Given the description of an element on the screen output the (x, y) to click on. 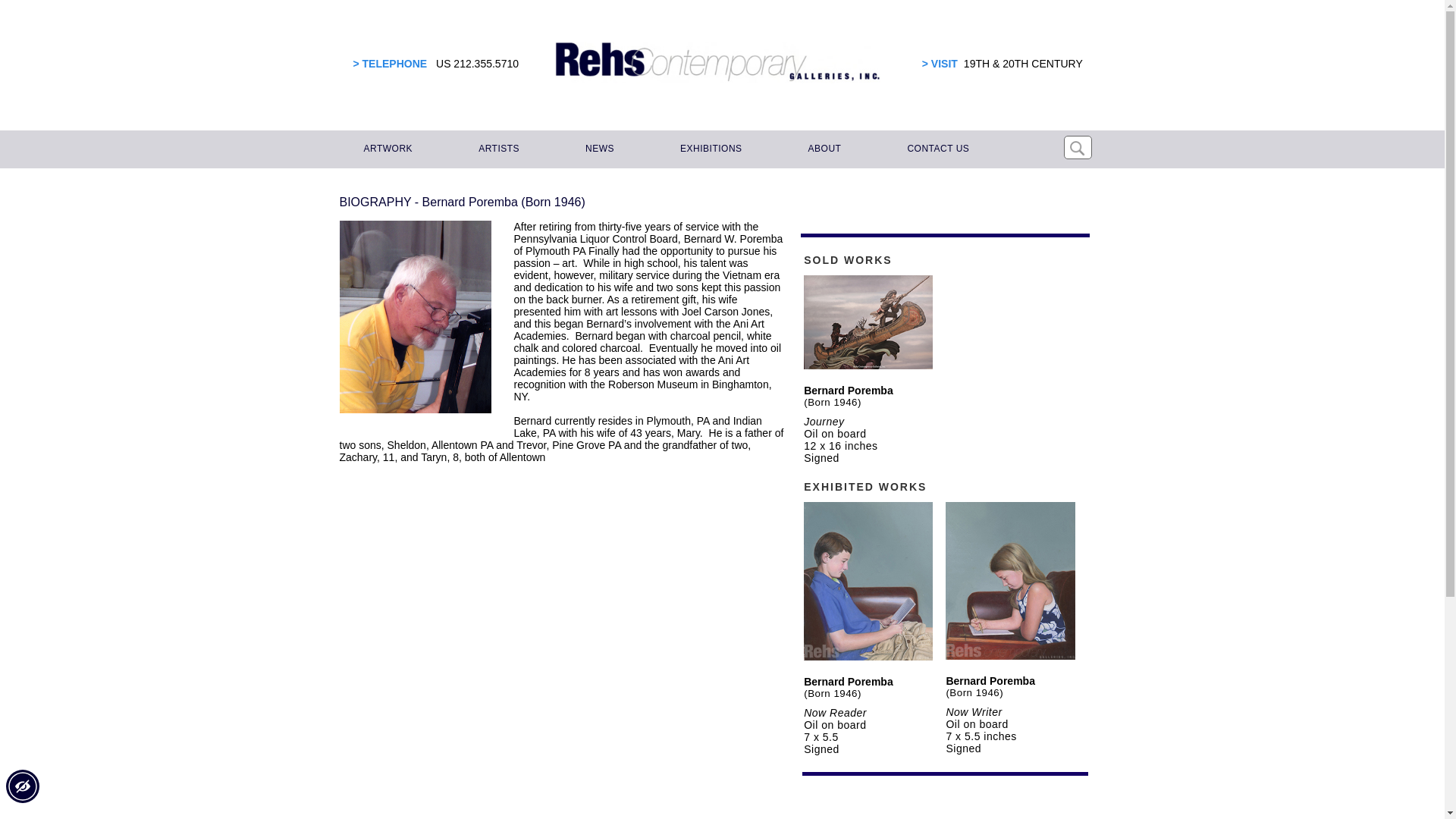
CONTACT US (935, 149)
EXHIBITIONS (708, 149)
Accessibility Menu (22, 786)
ARTISTS (496, 149)
ABOUT (822, 149)
NEWS (597, 149)
Logo (717, 62)
Journey (823, 421)
ARTWORK (386, 149)
